Given the description of an element on the screen output the (x, y) to click on. 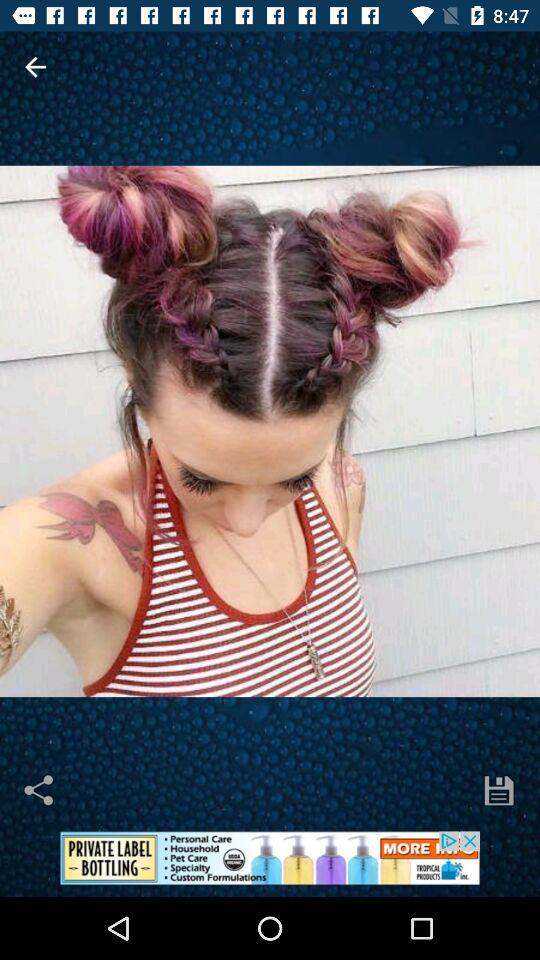
go back (35, 66)
